Given the description of an element on the screen output the (x, y) to click on. 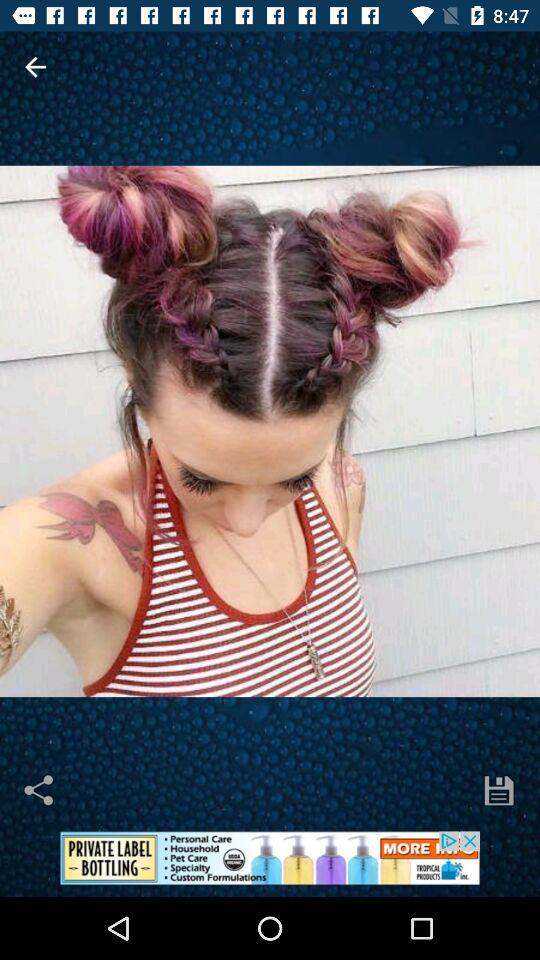
go back (35, 66)
